Given the description of an element on the screen output the (x, y) to click on. 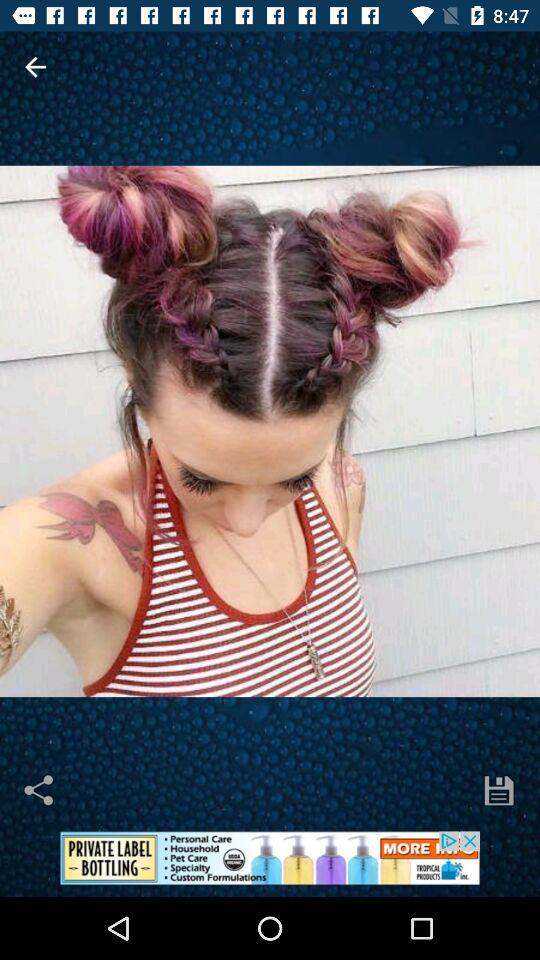
go back (35, 66)
